Given the description of an element on the screen output the (x, y) to click on. 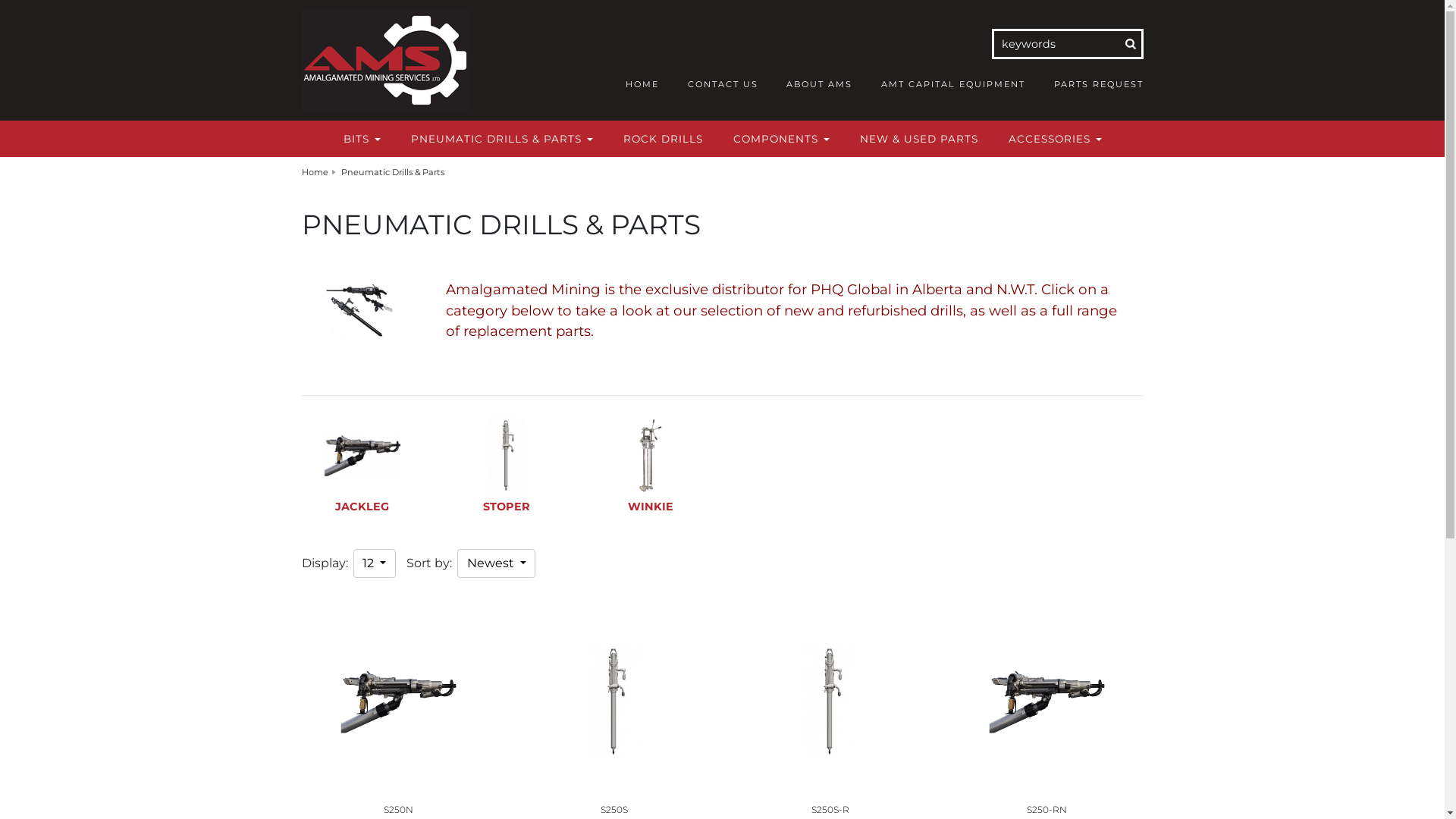
AMT CAPITAL EQUIPMENT Element type: text (953, 83)
BITS Element type: text (360, 138)
JACKLEG Element type: text (362, 482)
PNEUMATIC DRILLS & PARTS Element type: text (502, 138)
WINKIE Element type: text (650, 482)
HOME Element type: text (641, 83)
S250S Element type: text (613, 809)
STOPER Element type: text (506, 482)
COMPONENTS Element type: text (780, 138)
Newest Element type: text (496, 563)
ACCESSORIES Element type: text (1054, 138)
S250-RN Element type: text (1046, 809)
NEW & USED PARTS Element type: text (918, 138)
S250S-R Element type: text (830, 809)
12 Element type: text (374, 563)
ROCK DRILLS Element type: text (662, 138)
S250N Element type: text (398, 809)
Home Element type: text (319, 171)
ABOUT AMS Element type: text (819, 83)
PARTS REQUEST Element type: text (1098, 83)
CONTACT US Element type: text (722, 83)
